Given the description of an element on the screen output the (x, y) to click on. 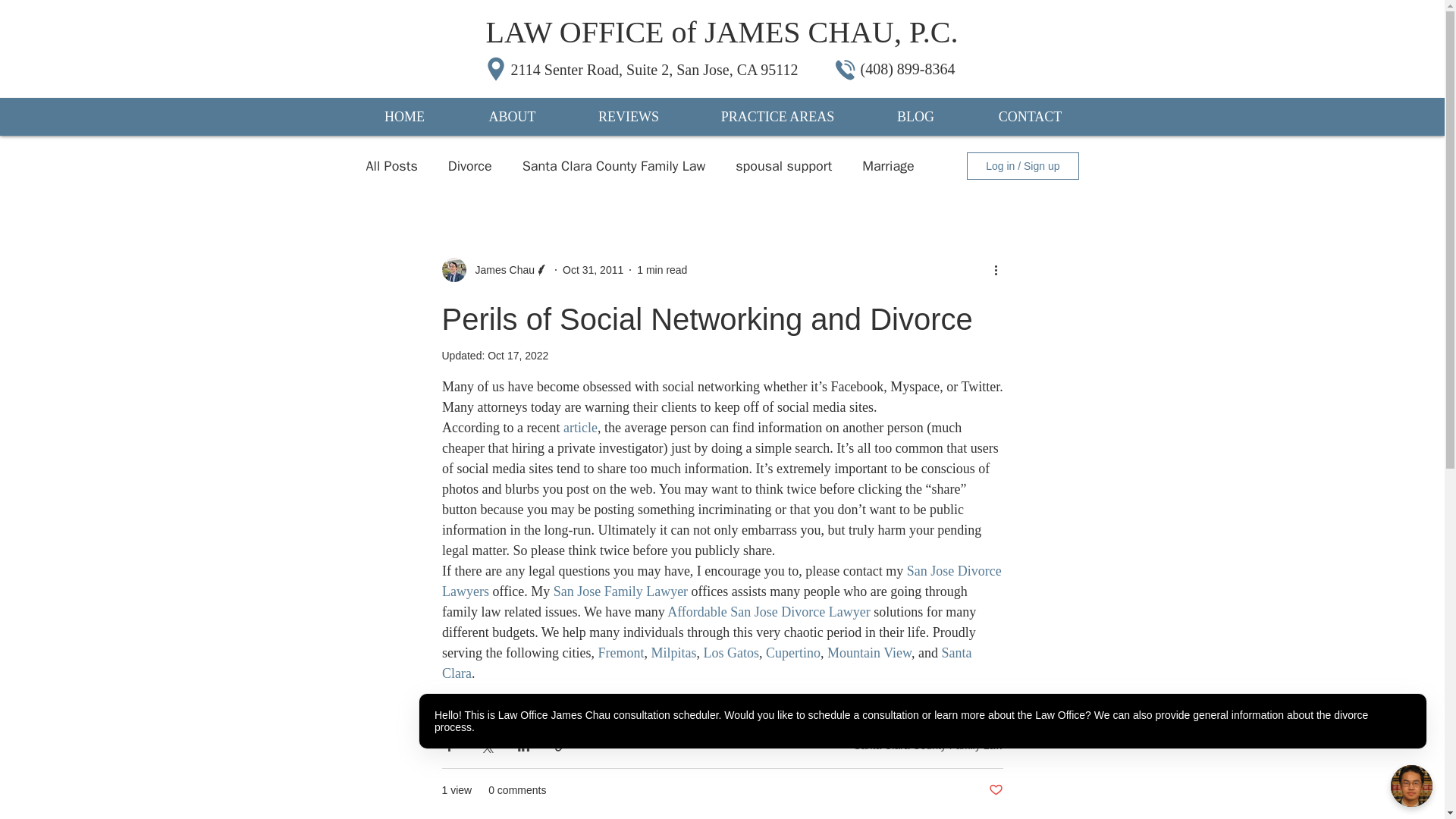
1 min read (662, 269)
Divorce (470, 166)
article (579, 427)
James Chau (499, 270)
spousal support (783, 166)
LAW OFFICE of JAMES CHAU, P.C. (722, 32)
Santa Clara County Family Law (614, 166)
Oct 31, 2011 (592, 269)
HOME (405, 116)
CONTACT (1029, 116)
REVIEWS (628, 116)
All Posts (390, 166)
ABOUT (512, 116)
BLOG (915, 116)
Marriage (887, 166)
